Given the description of an element on the screen output the (x, y) to click on. 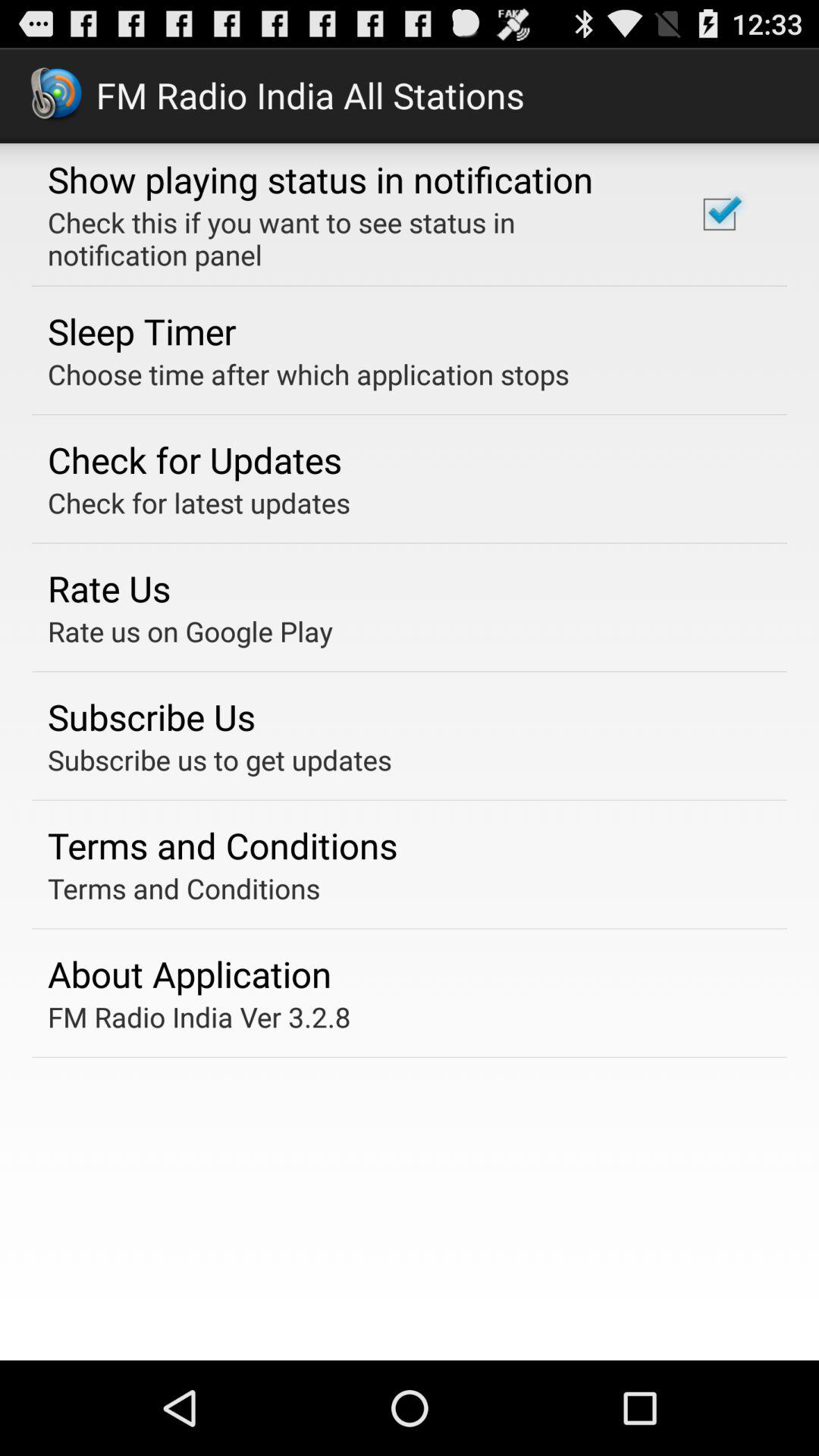
launch icon above the fm radio india icon (189, 973)
